Given the description of an element on the screen output the (x, y) to click on. 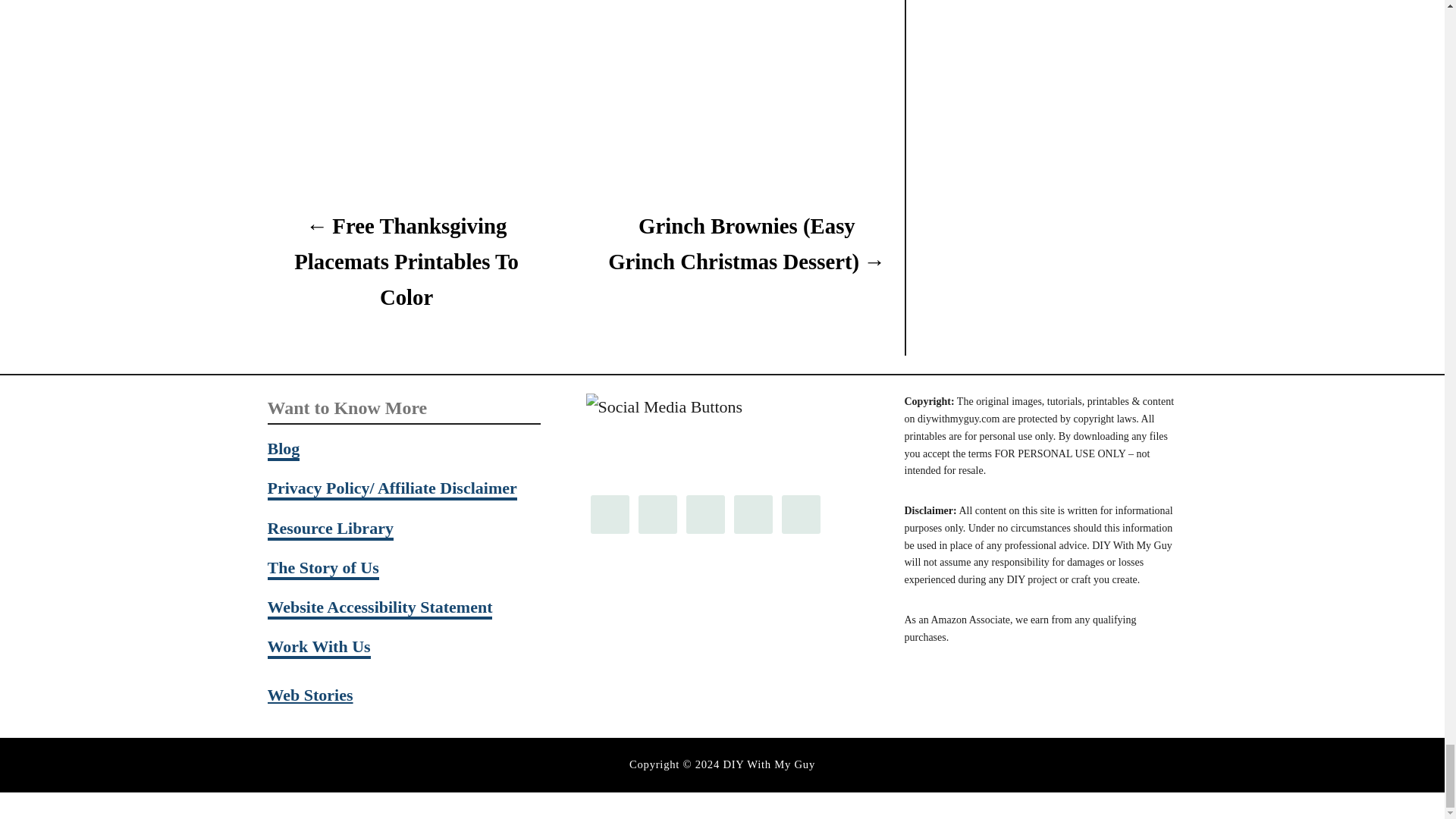
Free Thanksgiving Placemats Printables To Color (405, 261)
